Given the description of an element on the screen output the (x, y) to click on. 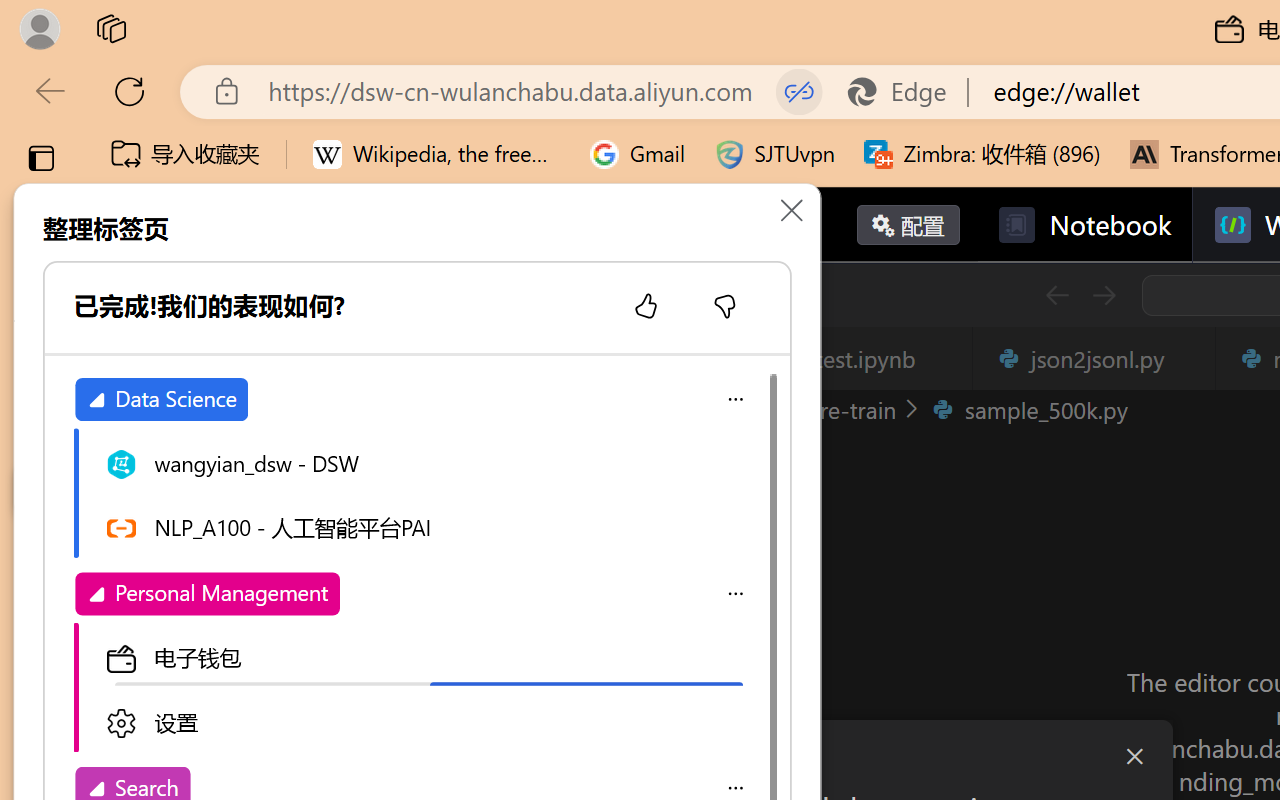
Close Dialog (1133, 756)
Tab actions (1188, 358)
Go Forward (Alt+RightArrow) (1102, 295)
Close (Ctrl+F4) (1188, 358)
wangyian_dsw - DSW (426, 461)
